Given the description of an element on the screen output the (x, y) to click on. 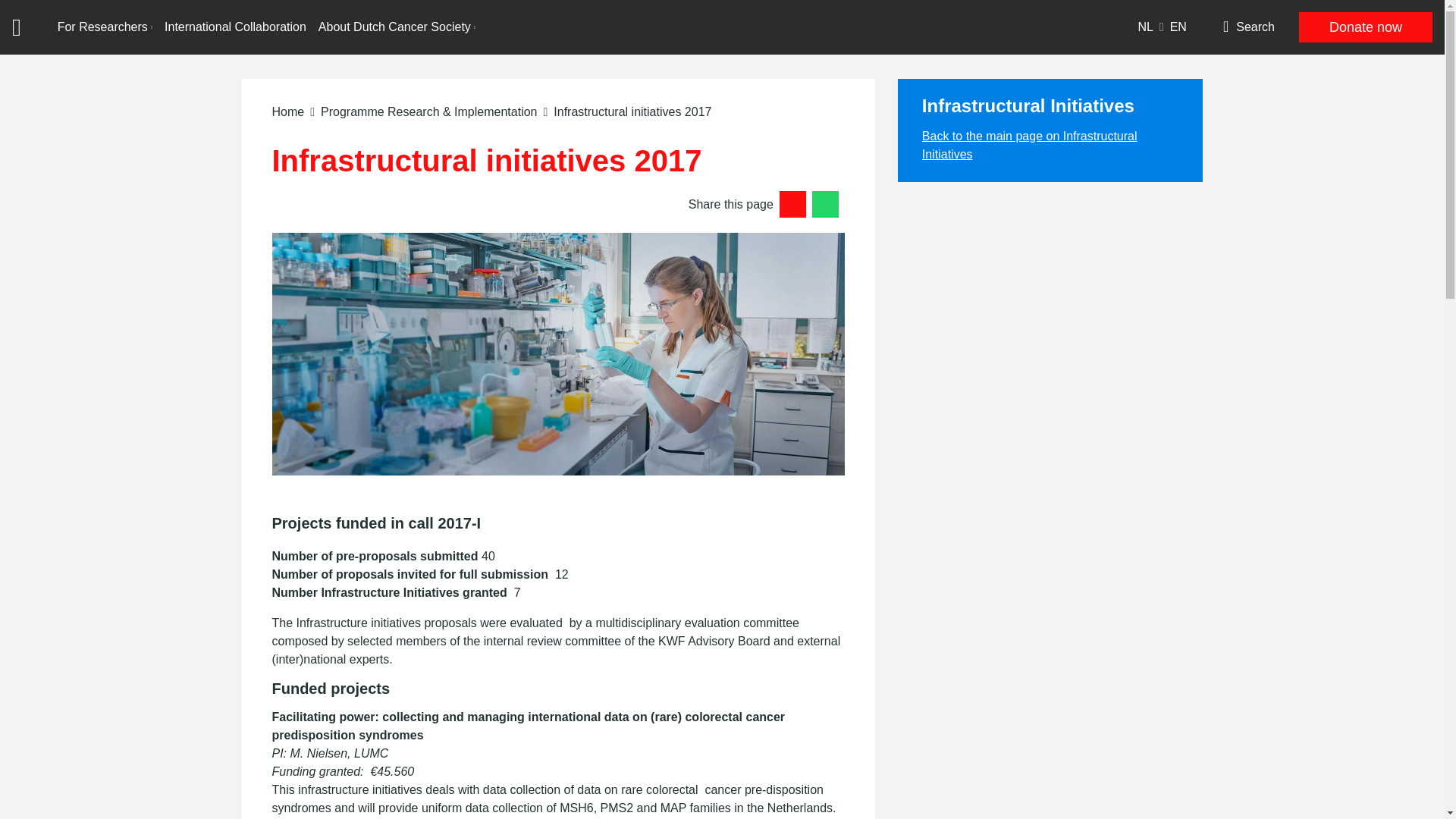
International Collaboration (234, 27)
Donate now (1365, 27)
Search (1243, 27)
NL (1150, 27)
Donate now (1365, 27)
EN (1178, 27)
About Dutch Cancer Society (397, 27)
Facebook (825, 203)
For Researchers (105, 27)
Mail (792, 203)
